Given the description of an element on the screen output the (x, y) to click on. 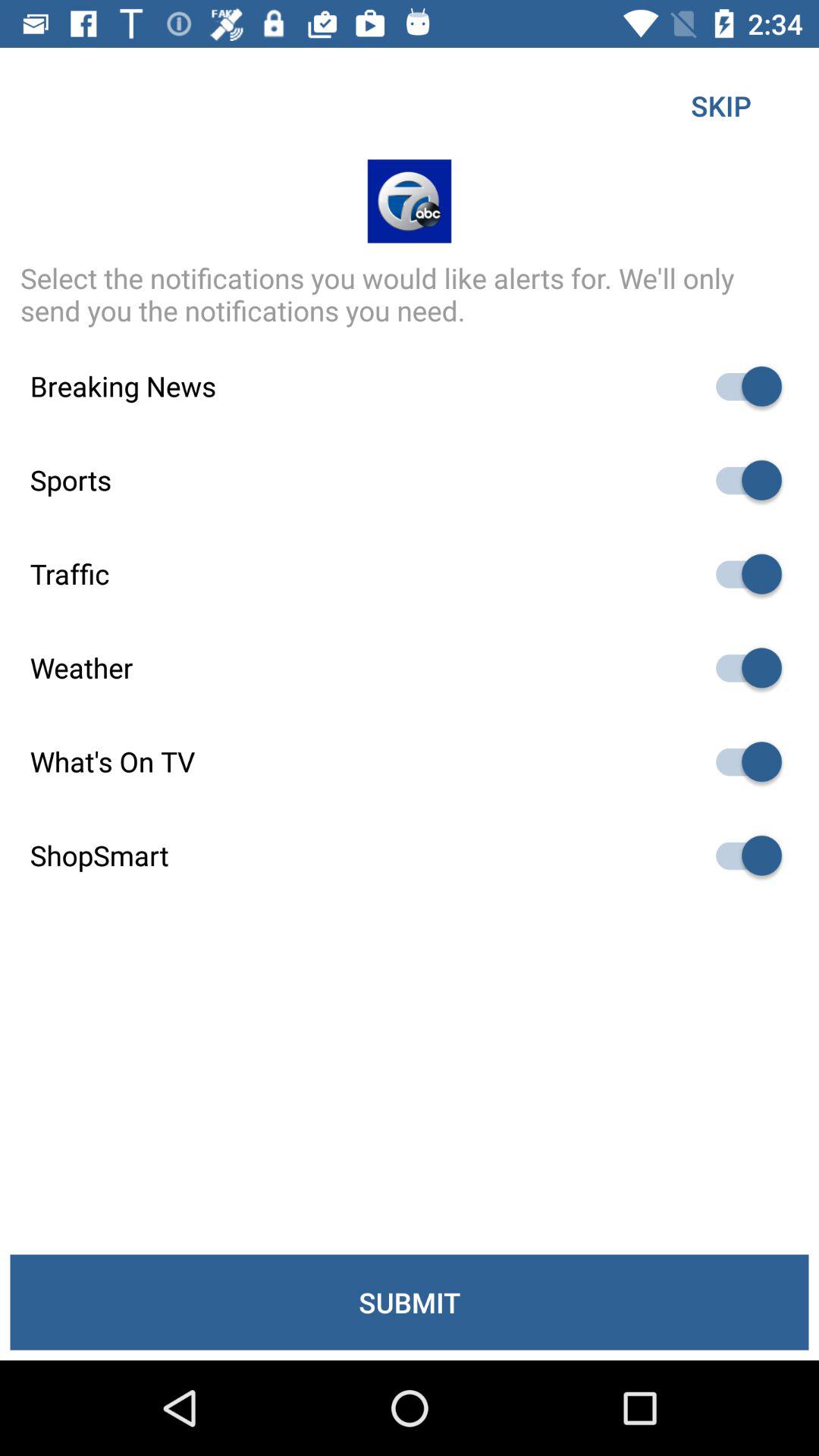
on off (741, 386)
